Given the description of an element on the screen output the (x, y) to click on. 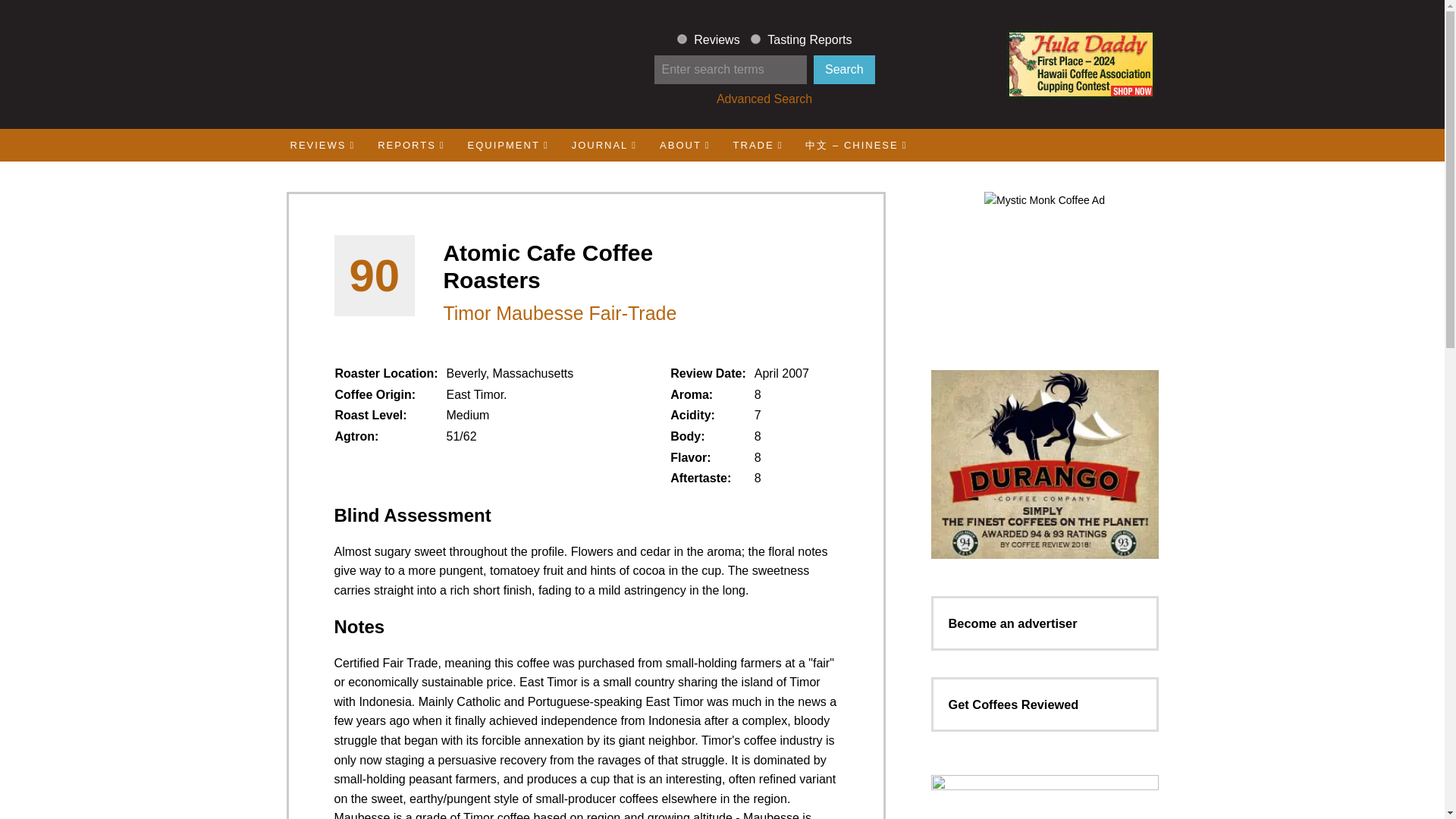
Get coffees reviewed (1012, 704)
Become an advertiser (1012, 622)
Advanced Search (764, 98)
Search (844, 69)
REPORTS (410, 144)
review (682, 39)
Search (844, 69)
post (755, 39)
EQUIPMENT (508, 144)
